Given the description of an element on the screen output the (x, y) to click on. 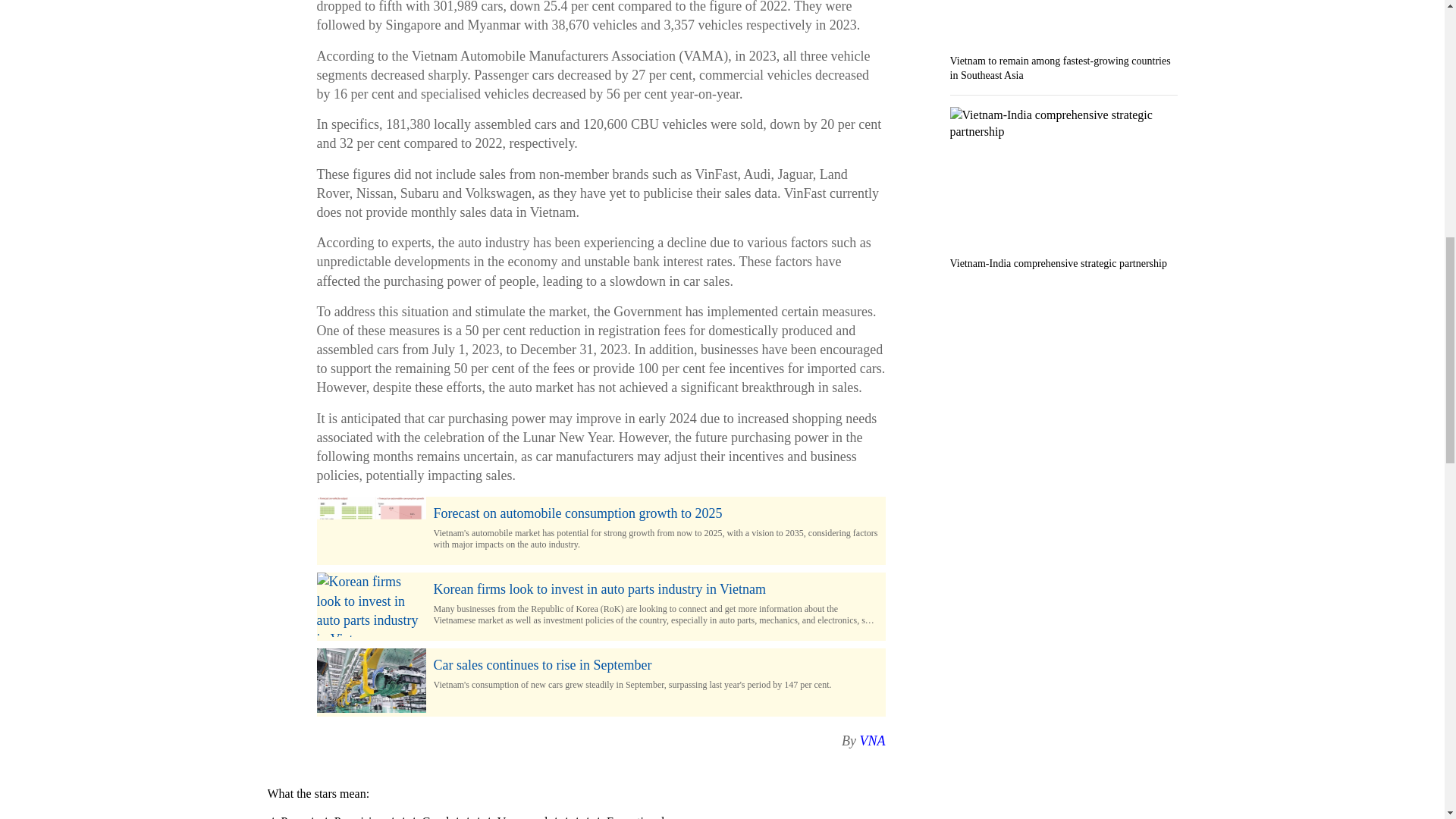
Forecast on automobile consumption growth to 2025 (655, 513)
Car sales continues to rise in September (655, 665)
